Given the description of an element on the screen output the (x, y) to click on. 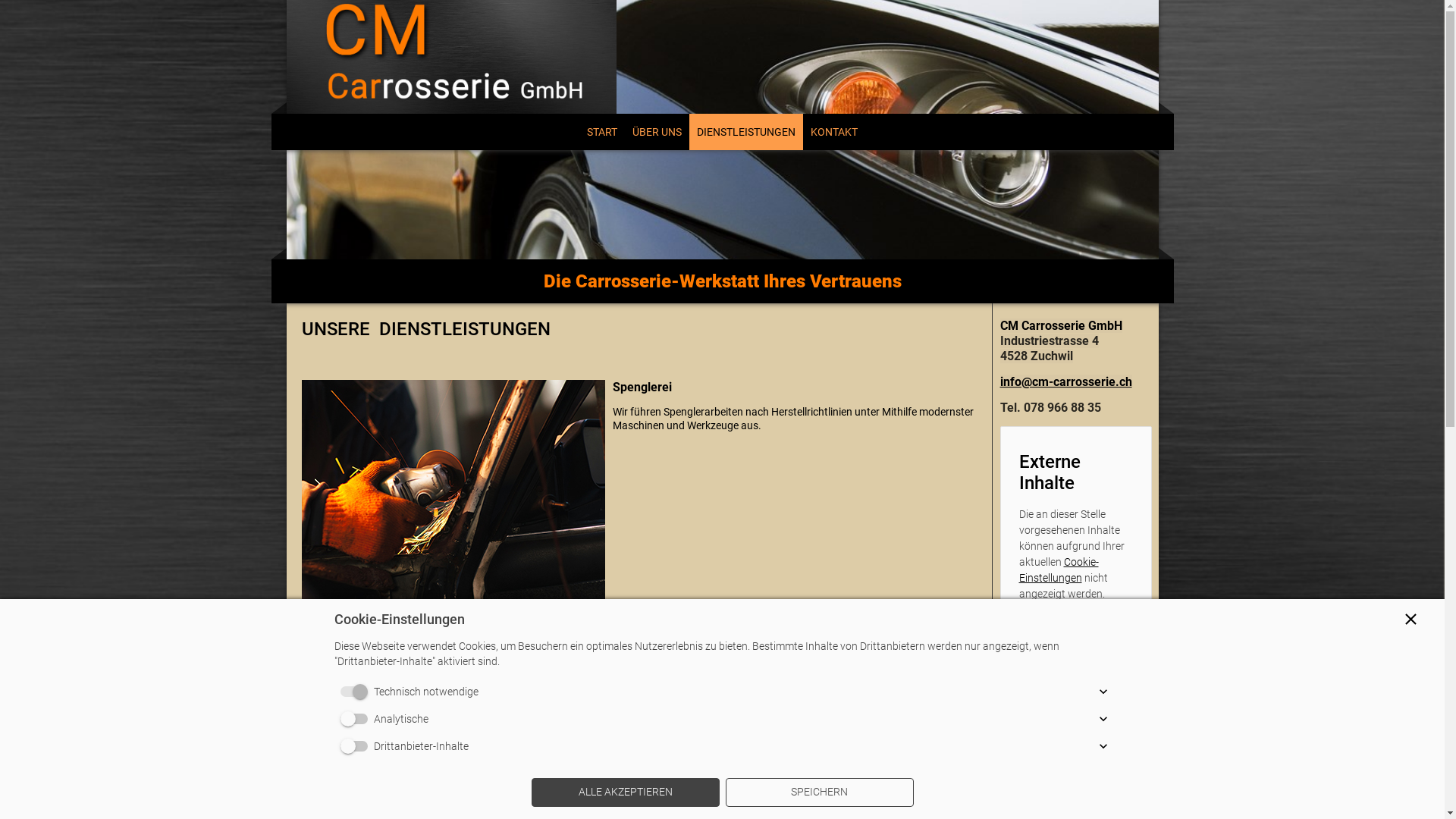
info@cm-carrosserie.ch Element type: text (1065, 381)
SPEICHERN Element type: text (818, 792)
DIENSTLEISTUNGEN Element type: text (746, 131)
KONTAKT Element type: text (834, 131)
Cookie-Einstellungen Element type: text (1058, 569)
  Element type: text (722, 56)
ALLE AKZEPTIEREN Element type: text (624, 792)
START Element type: text (601, 131)
